Given the description of an element on the screen output the (x, y) to click on. 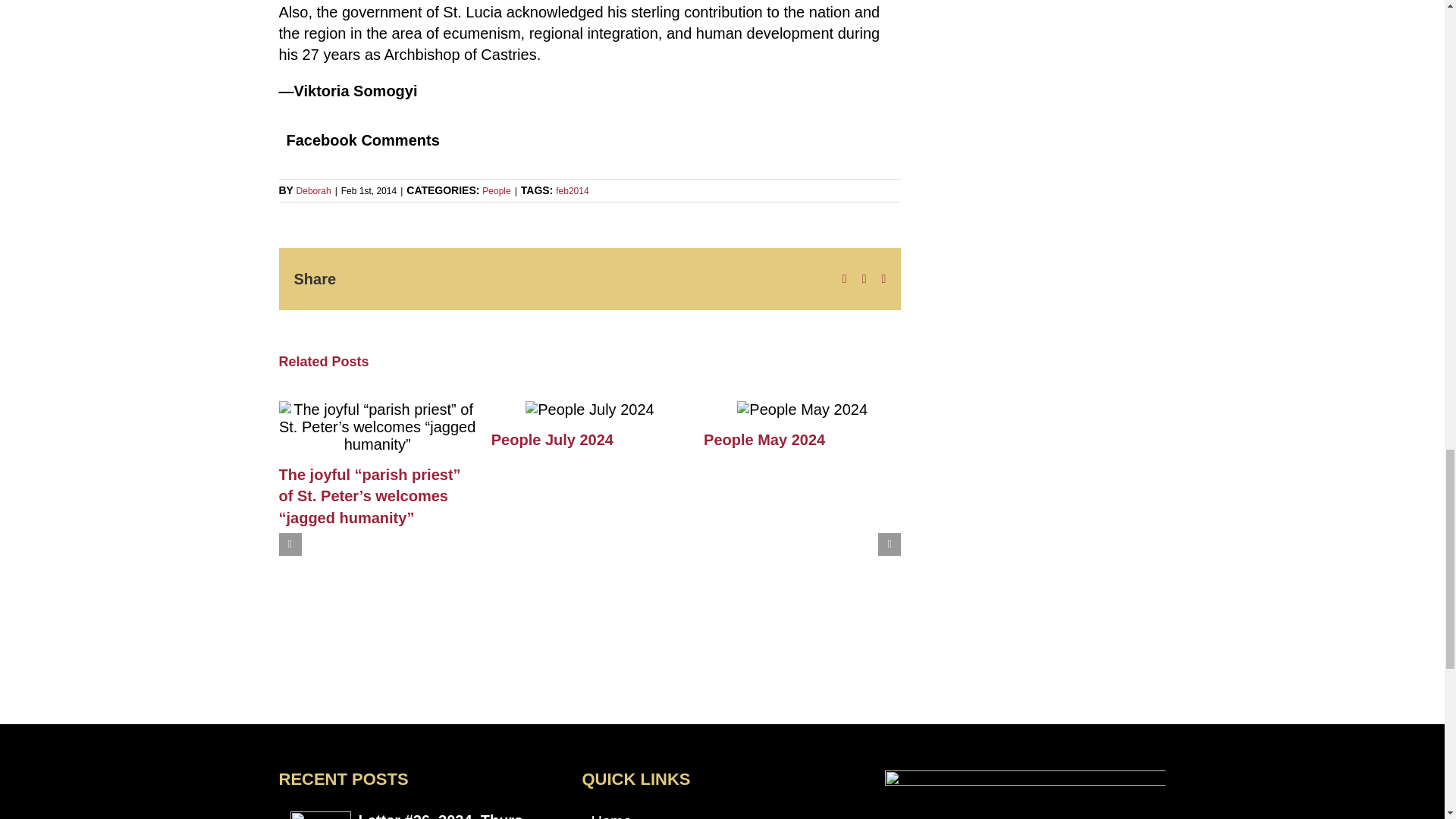
People May 2024 (764, 439)
People July 2024 (552, 439)
Posts by Deborah (314, 190)
